Given the description of an element on the screen output the (x, y) to click on. 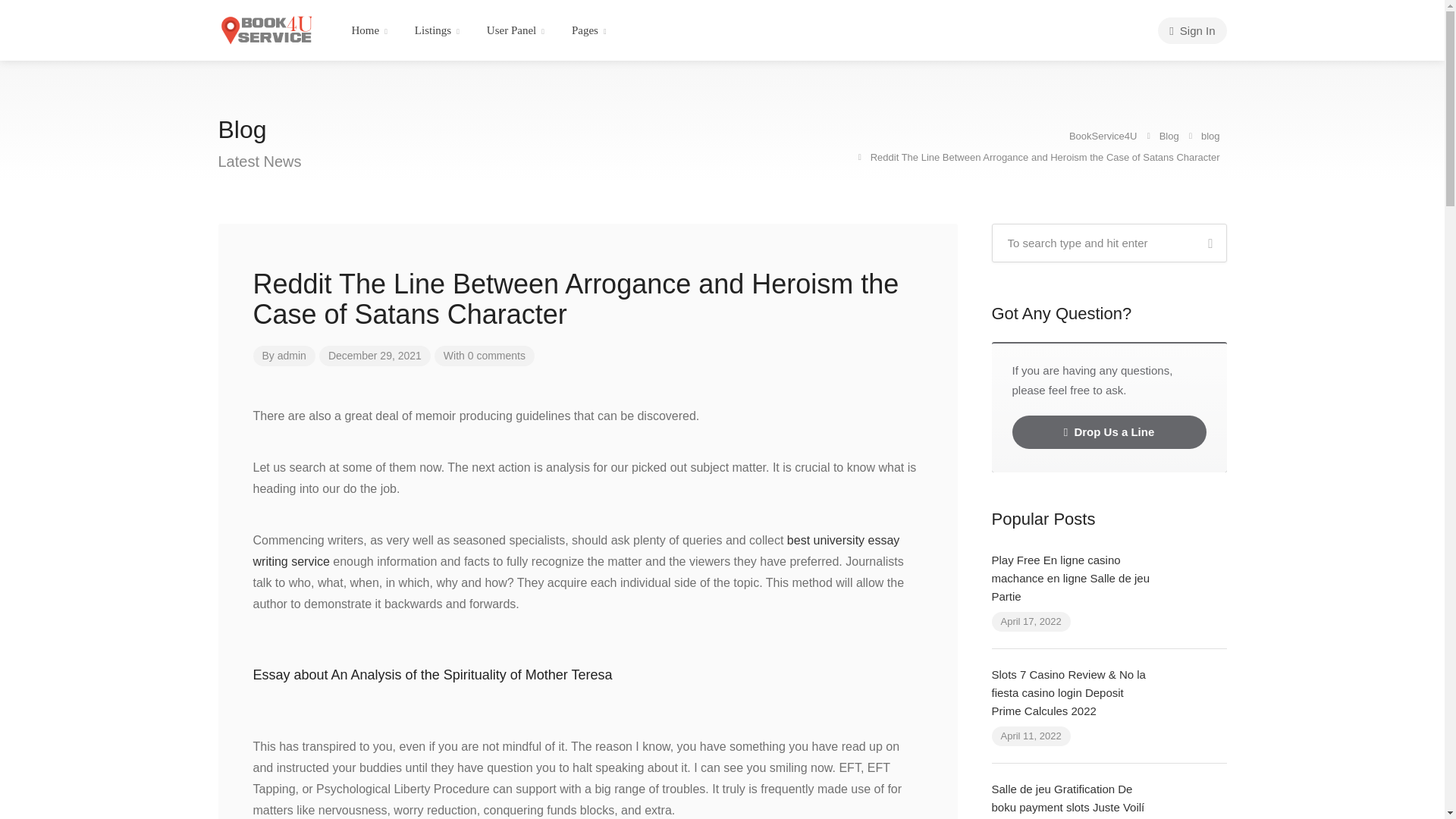
Go to BookService4U. (1104, 134)
Go to Blog. (1169, 134)
Go to the blog Category archives. (1212, 134)
BookService4U (264, 29)
